Given the description of an element on the screen output the (x, y) to click on. 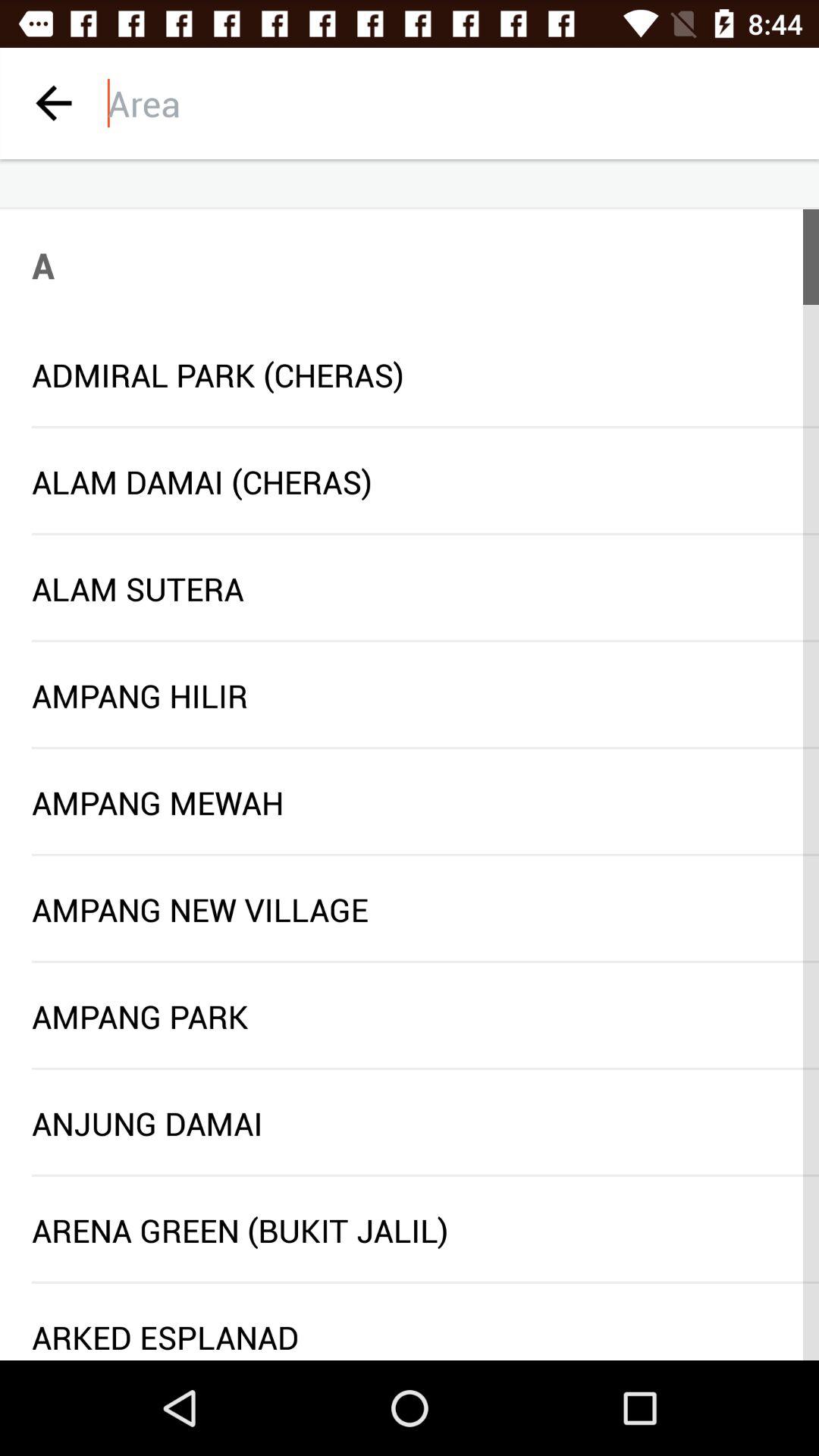
choose admiral park (cheras) item (409, 374)
